Given the description of an element on the screen output the (x, y) to click on. 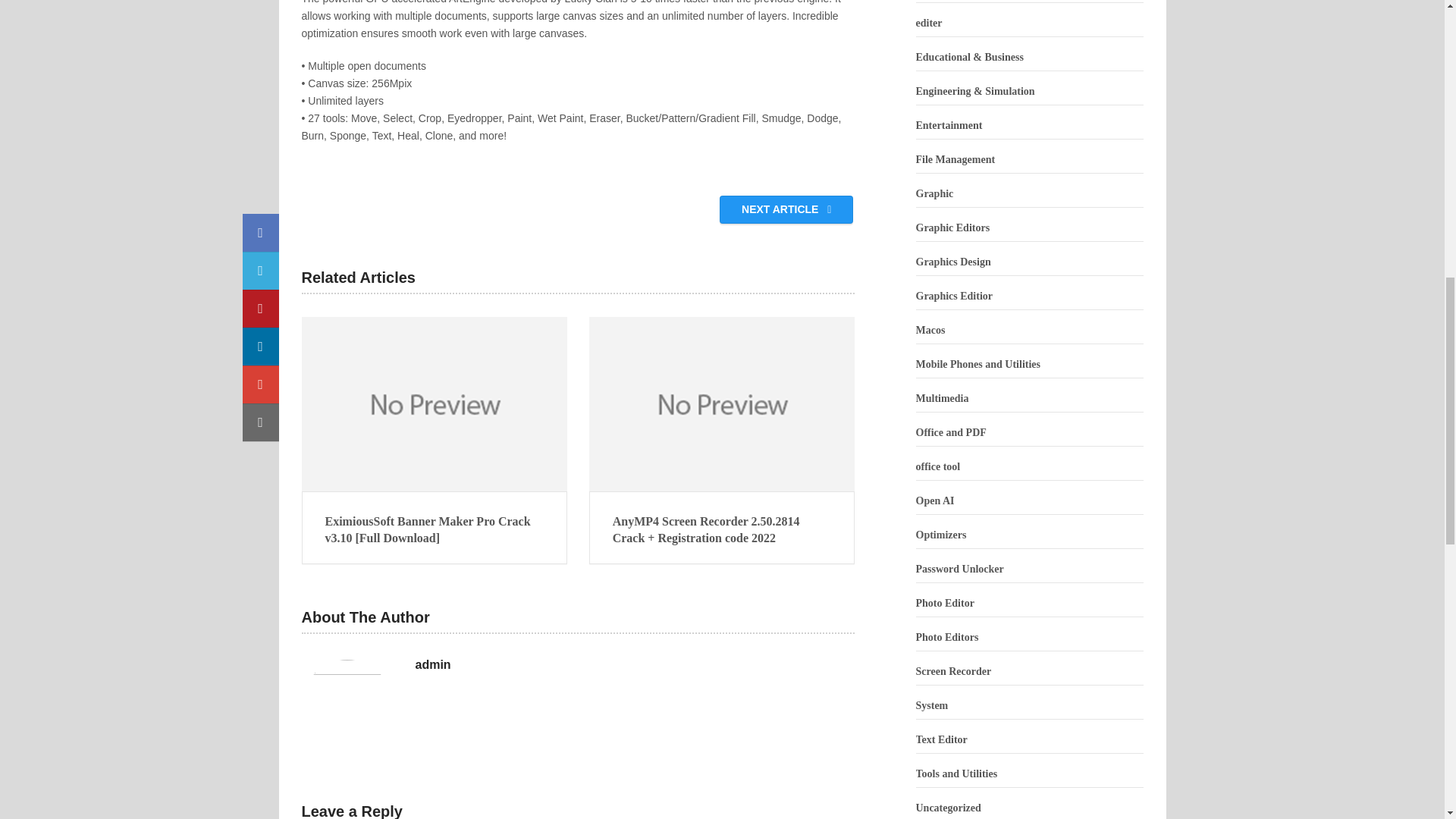
NEXT ARTICLE (786, 209)
admin (432, 664)
Download Crack (578, 168)
